Given the description of an element on the screen output the (x, y) to click on. 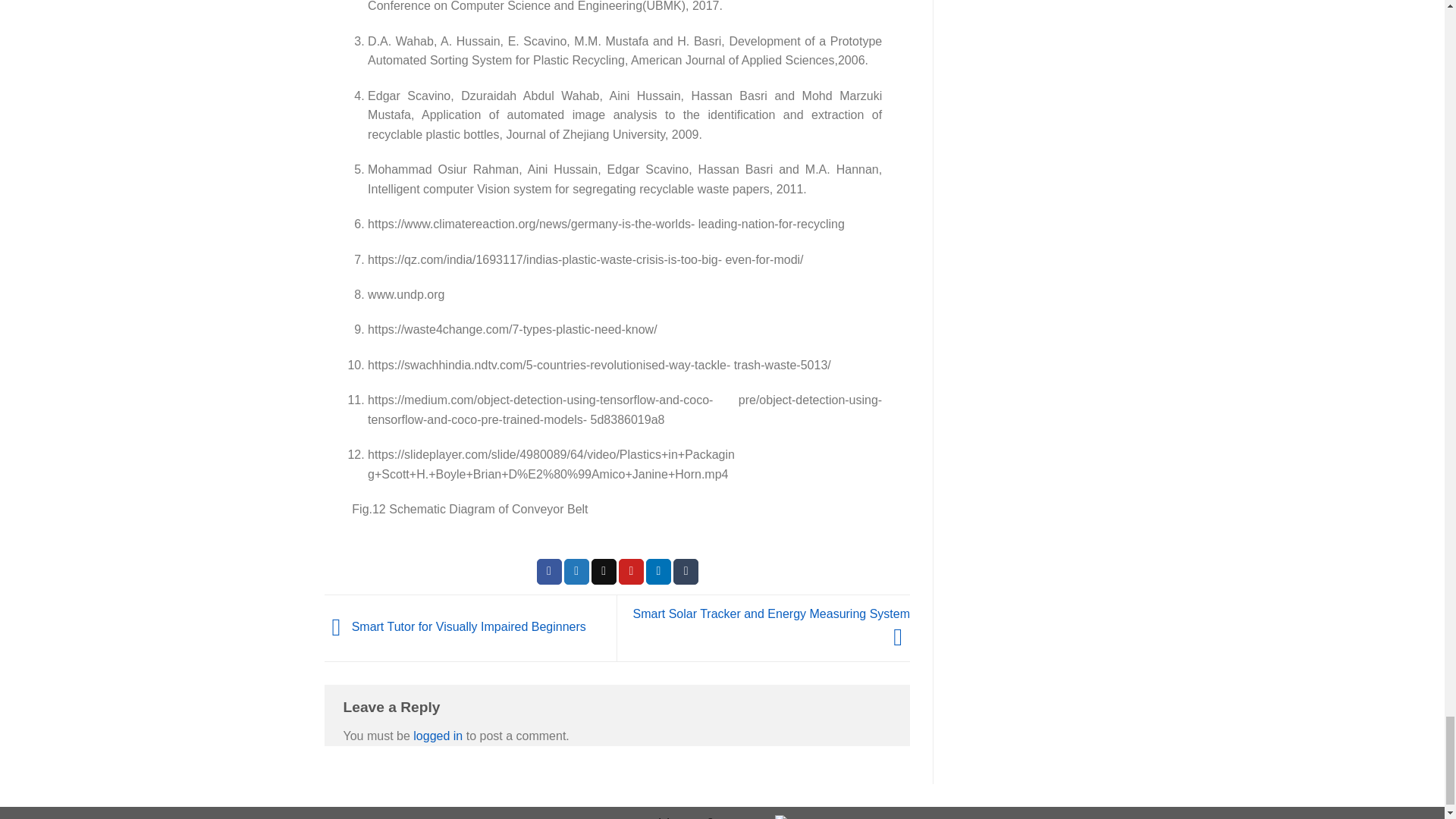
Pin on Pinterest (630, 571)
Email to a Friend (603, 571)
Share on Tumblr (685, 571)
Share on LinkedIn (658, 571)
Share on Twitter (576, 571)
Share on Facebook (549, 571)
